Given the description of an element on the screen output the (x, y) to click on. 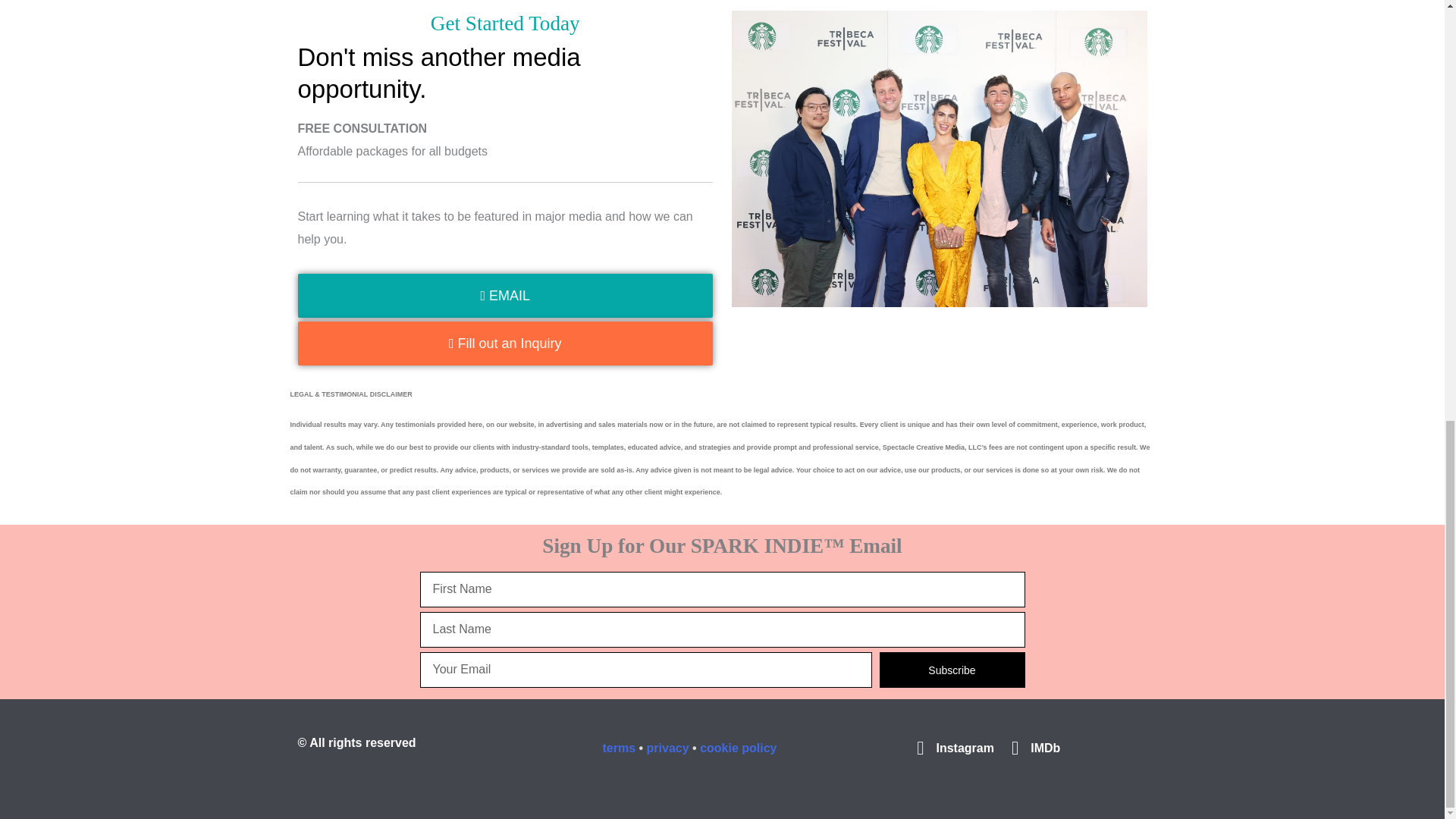
Instagram (951, 748)
privacy (667, 748)
IMDb (1031, 748)
Subscribe (952, 669)
terms  (620, 748)
cookie policy (738, 748)
EMAIL (505, 295)
Fill out an Inquiry (505, 343)
